Given the description of an element on the screen output the (x, y) to click on. 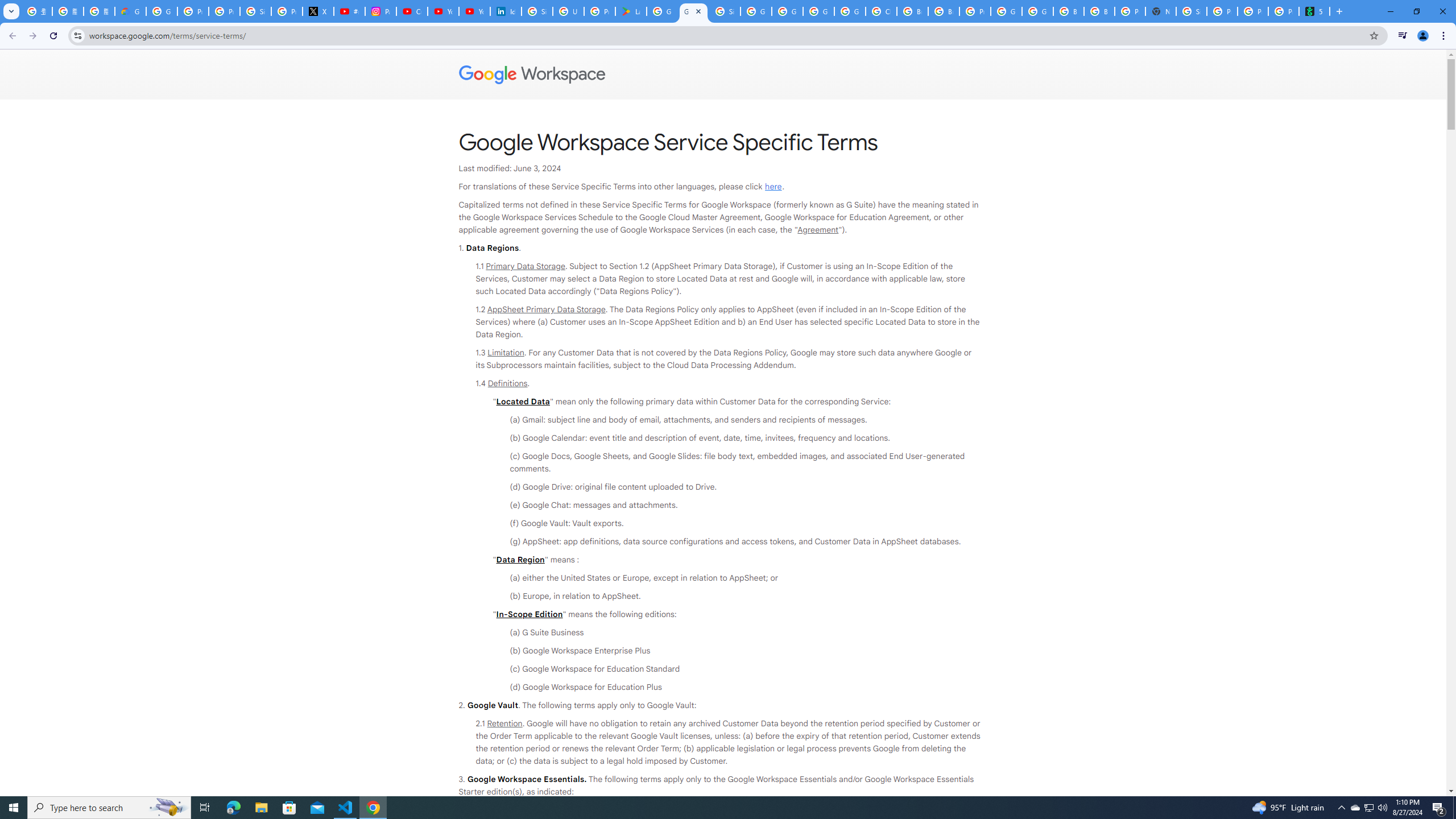
Browse Chrome as a guest - Computer - Google Chrome Help (943, 11)
#nbabasketballhighlights - YouTube (349, 11)
X (318, 11)
